Given the description of an element on the screen output the (x, y) to click on. 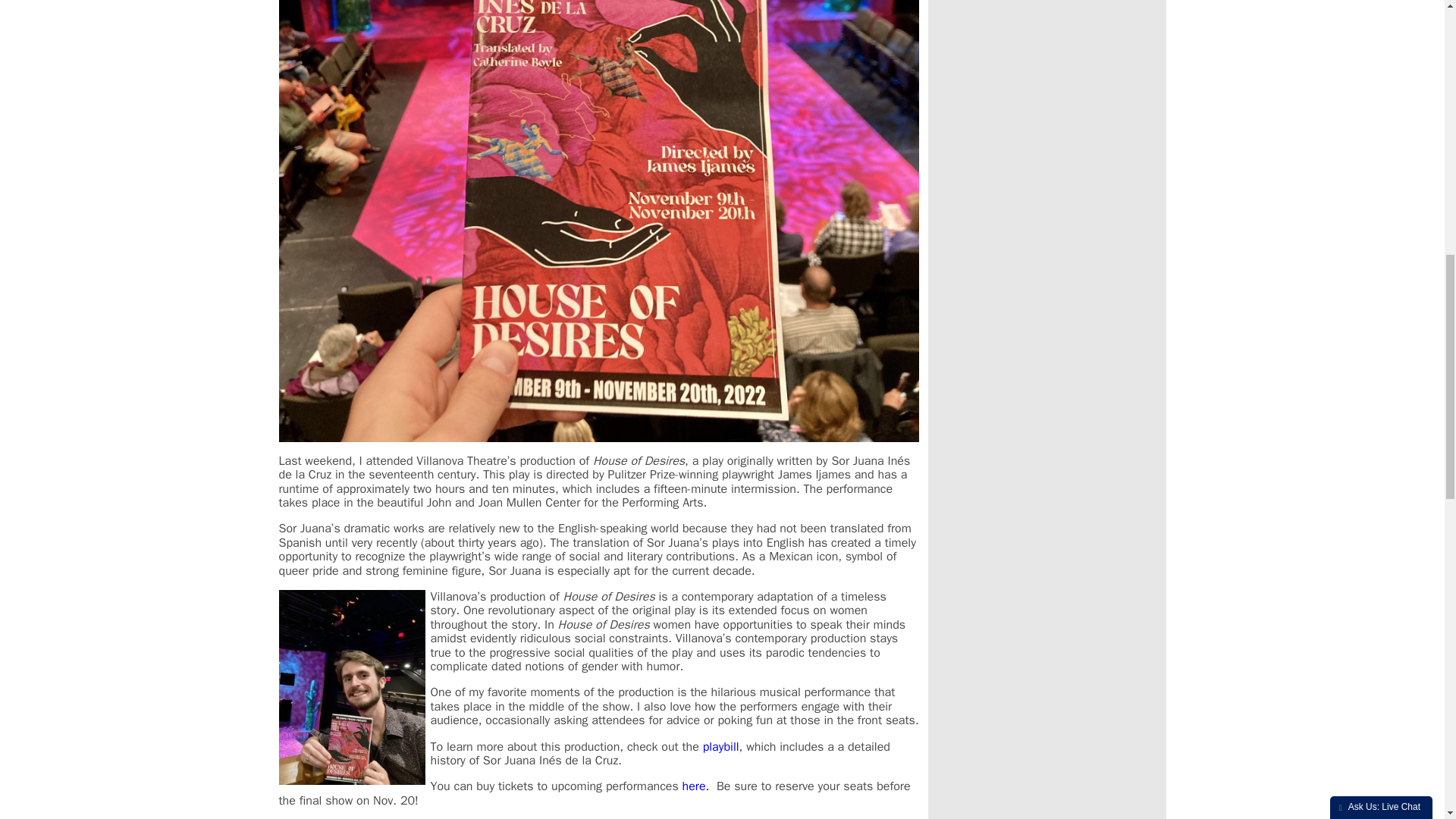
playbill (721, 746)
here. (696, 785)
